Given the description of an element on the screen output the (x, y) to click on. 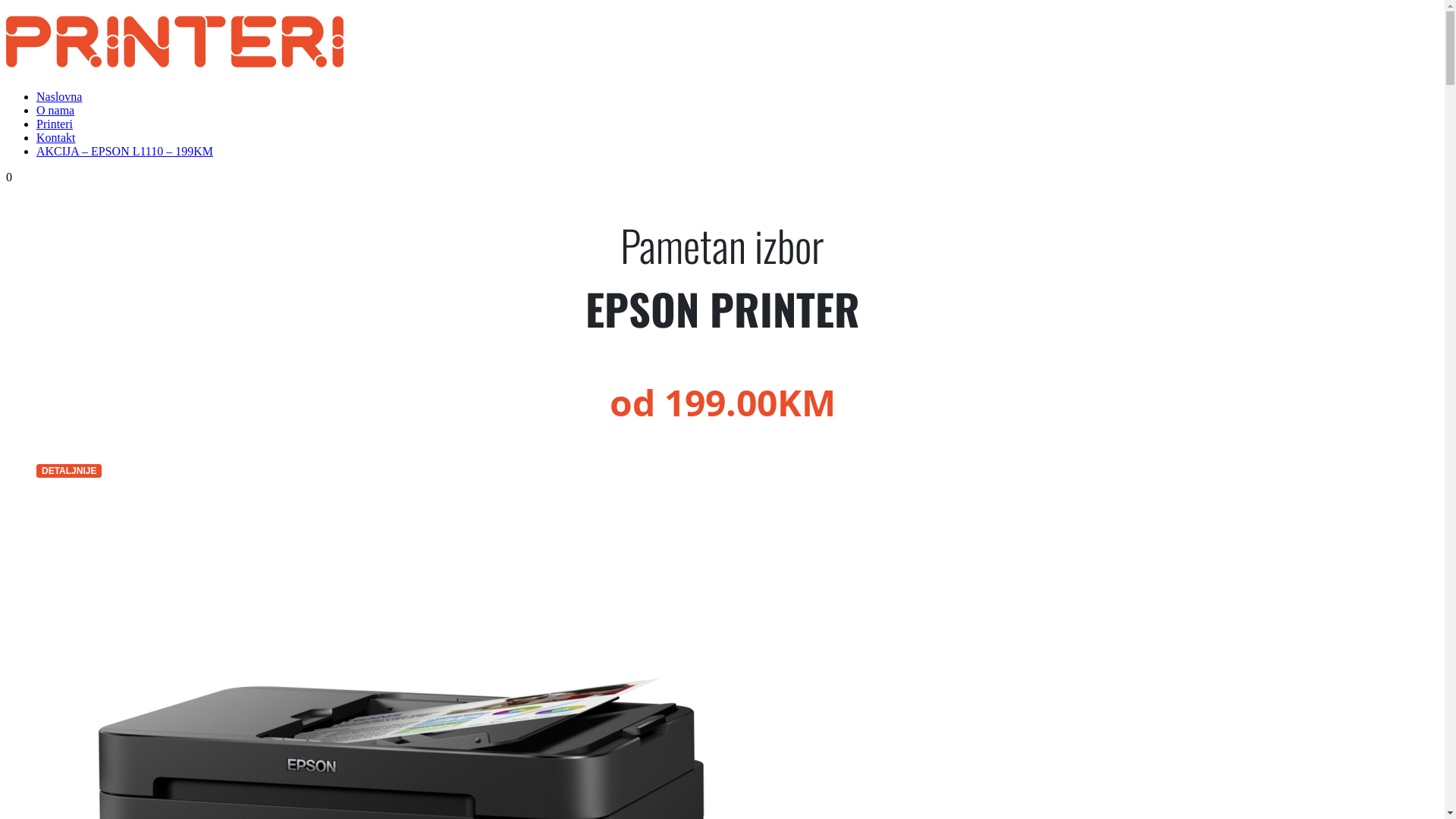
DETALJNIJE Element type: text (68, 470)
Kontakt Element type: text (55, 137)
DETALJNIJE Element type: text (68, 469)
O nama Element type: text (55, 109)
Naslovna Element type: text (58, 96)
Trebate printer? - Najbolje cijene printera na jednom mjestu Element type: hover (174, 58)
Printeri Element type: text (54, 123)
